Given the description of an element on the screen output the (x, y) to click on. 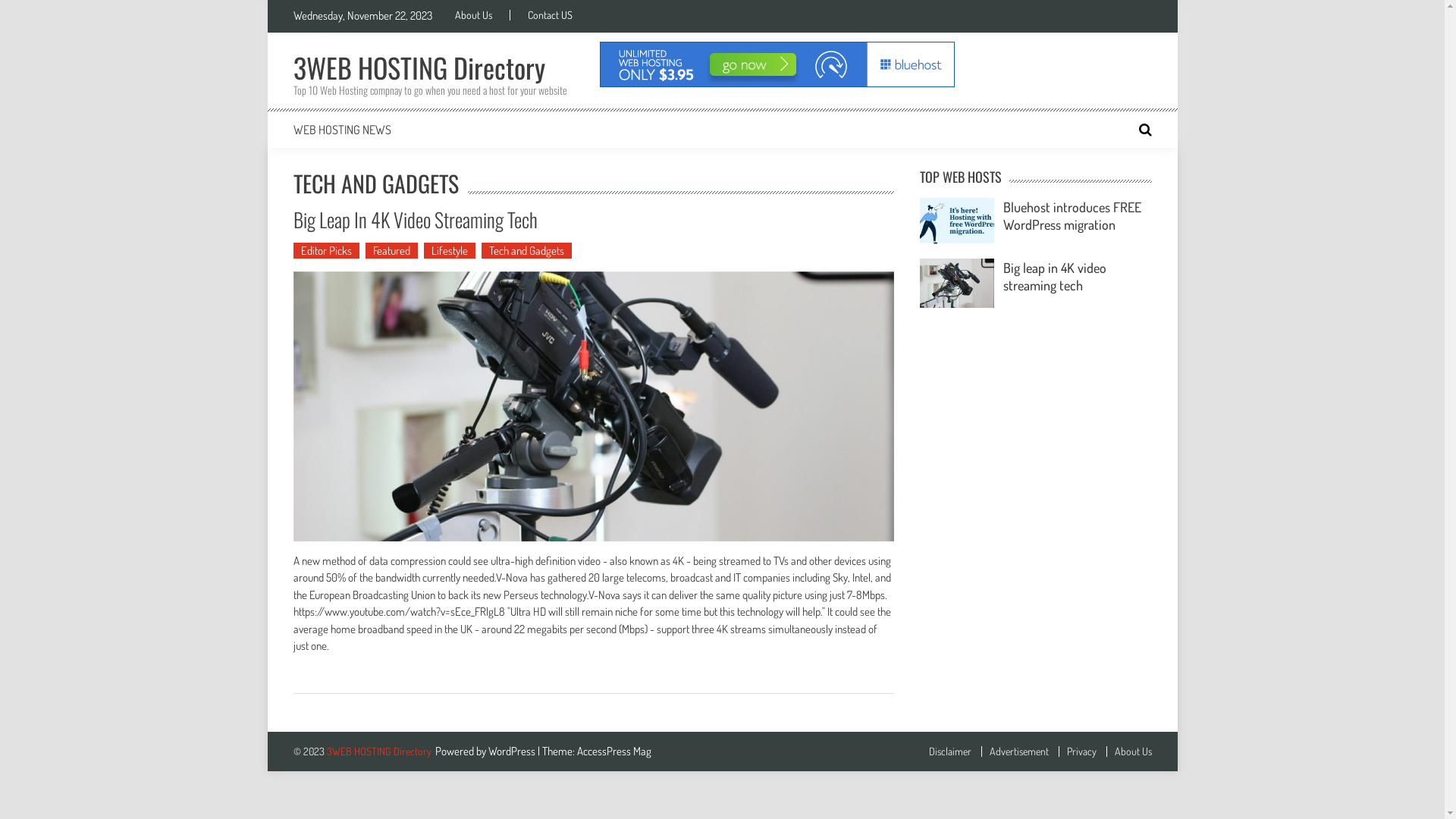
About Us Element type: text (1128, 751)
Bluehost introduces FREE WordPress migration Element type: text (1072, 215)
Contact US Element type: text (549, 14)
AccessPress Mag Element type: text (613, 750)
Big Leap In 4K Video Streaming Tech Element type: text (414, 219)
Editor Picks Element type: text (325, 250)
Tech and Gadgets Element type: text (525, 250)
About Us Element type: text (482, 14)
Lifestyle Element type: text (448, 250)
Big leap in 4K video streaming tech Element type: text (1054, 276)
Privacy Element type: text (1077, 751)
Disclaimer Element type: text (949, 751)
Advertisement Element type: text (1014, 751)
WordPress Element type: text (512, 750)
Featured Element type: text (391, 250)
Skip to content Element type: text (297, 8)
WEB HOSTING NEWS Element type: text (341, 128)
3WEB HOSTING Directory Element type: text (378, 750)
